Given the description of an element on the screen output the (x, y) to click on. 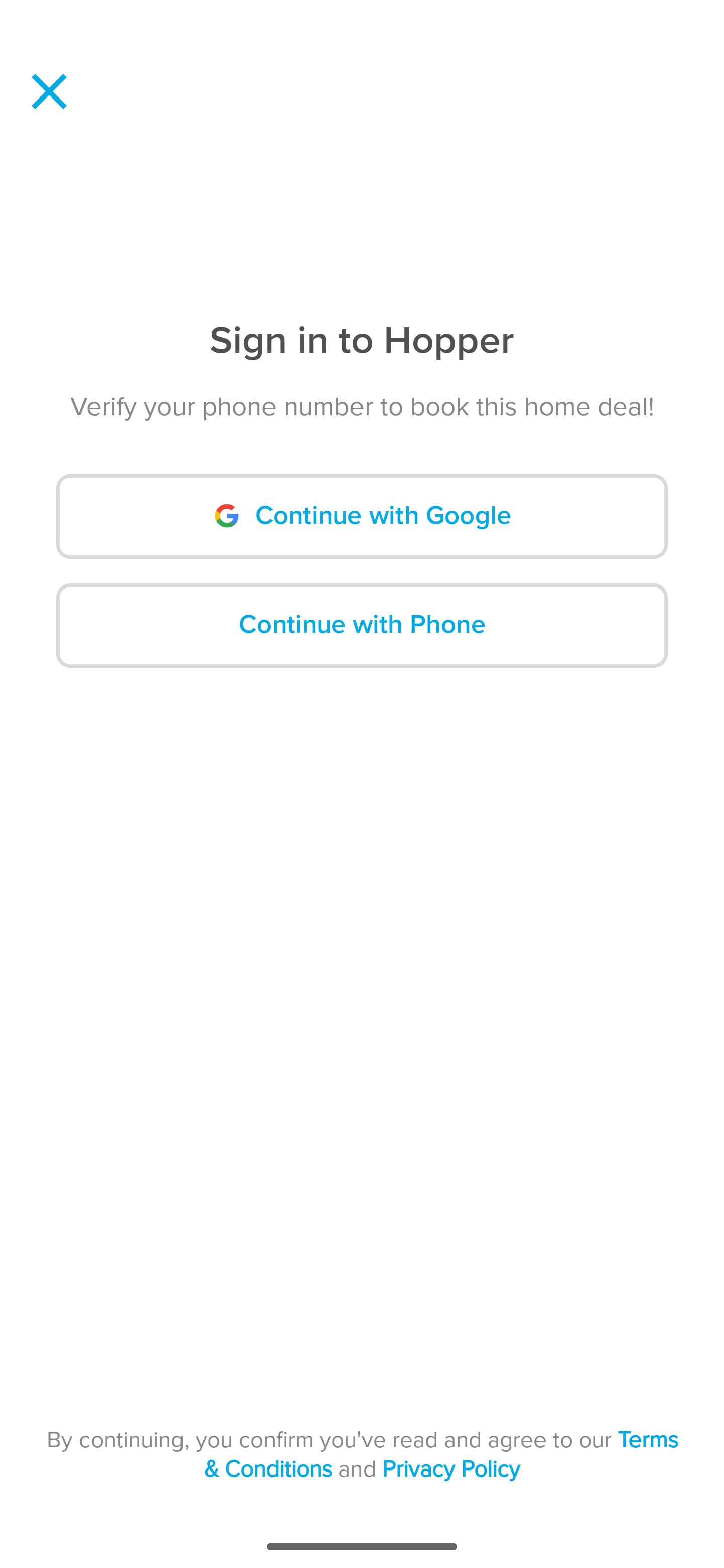
Navigate up (49, 91)
‍ Continue with Google (361, 516)
‍Continue with Phone (361, 625)
